Given the description of an element on the screen output the (x, y) to click on. 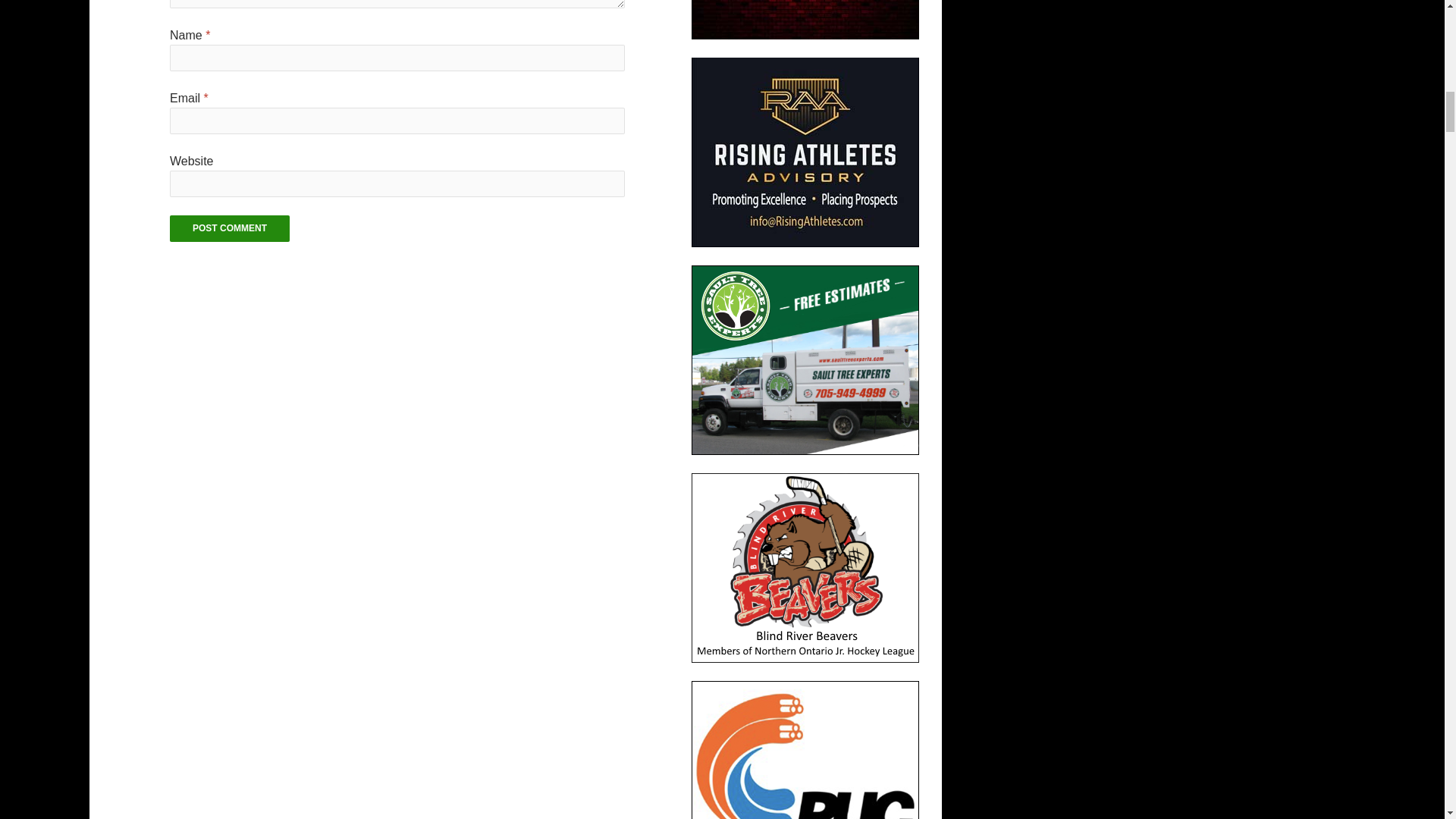
Post Comment (229, 228)
